Given the description of an element on the screen output the (x, y) to click on. 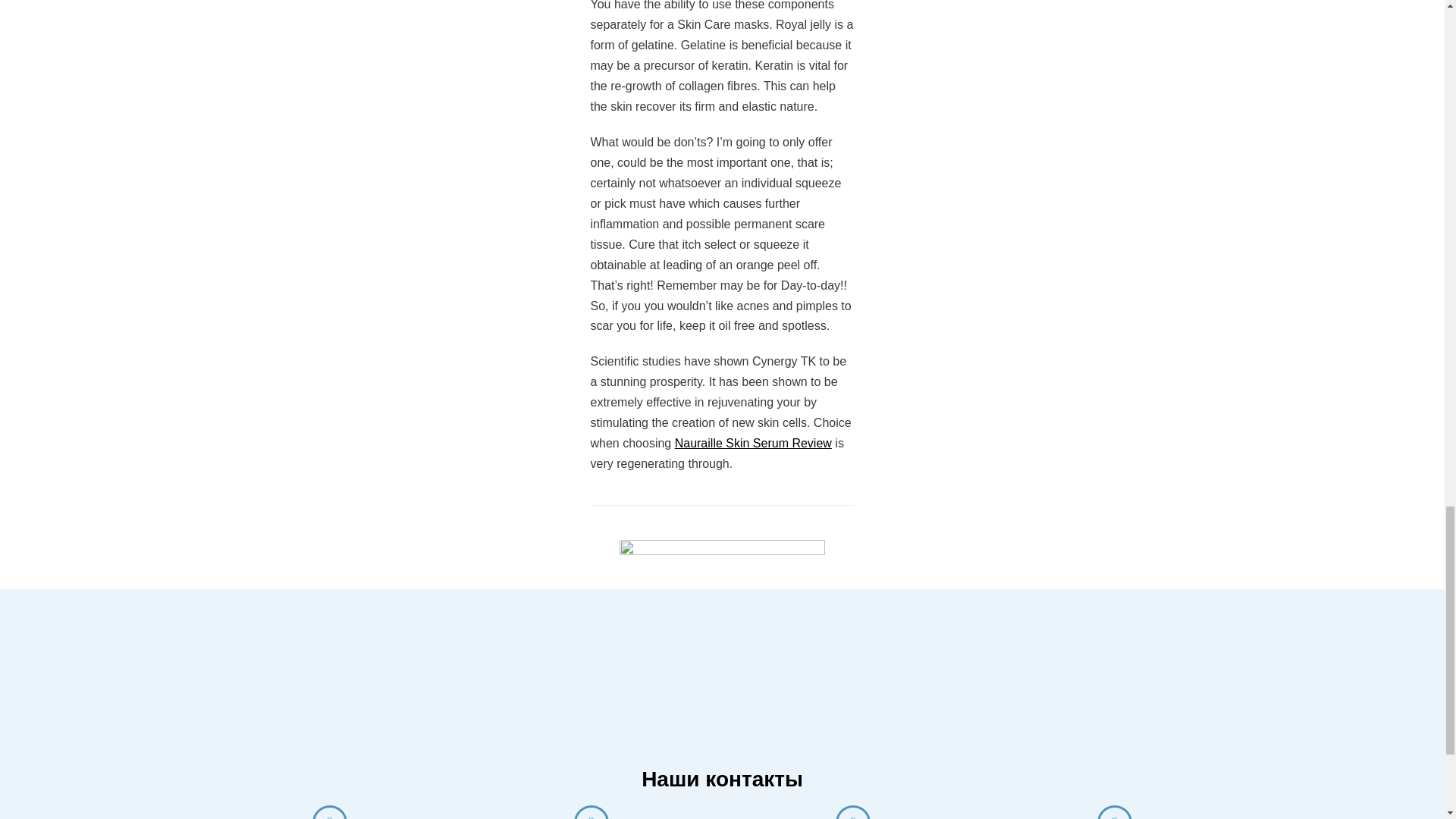
Nauraille Skin Serum Review (753, 442)
